Given the description of an element on the screen output the (x, y) to click on. 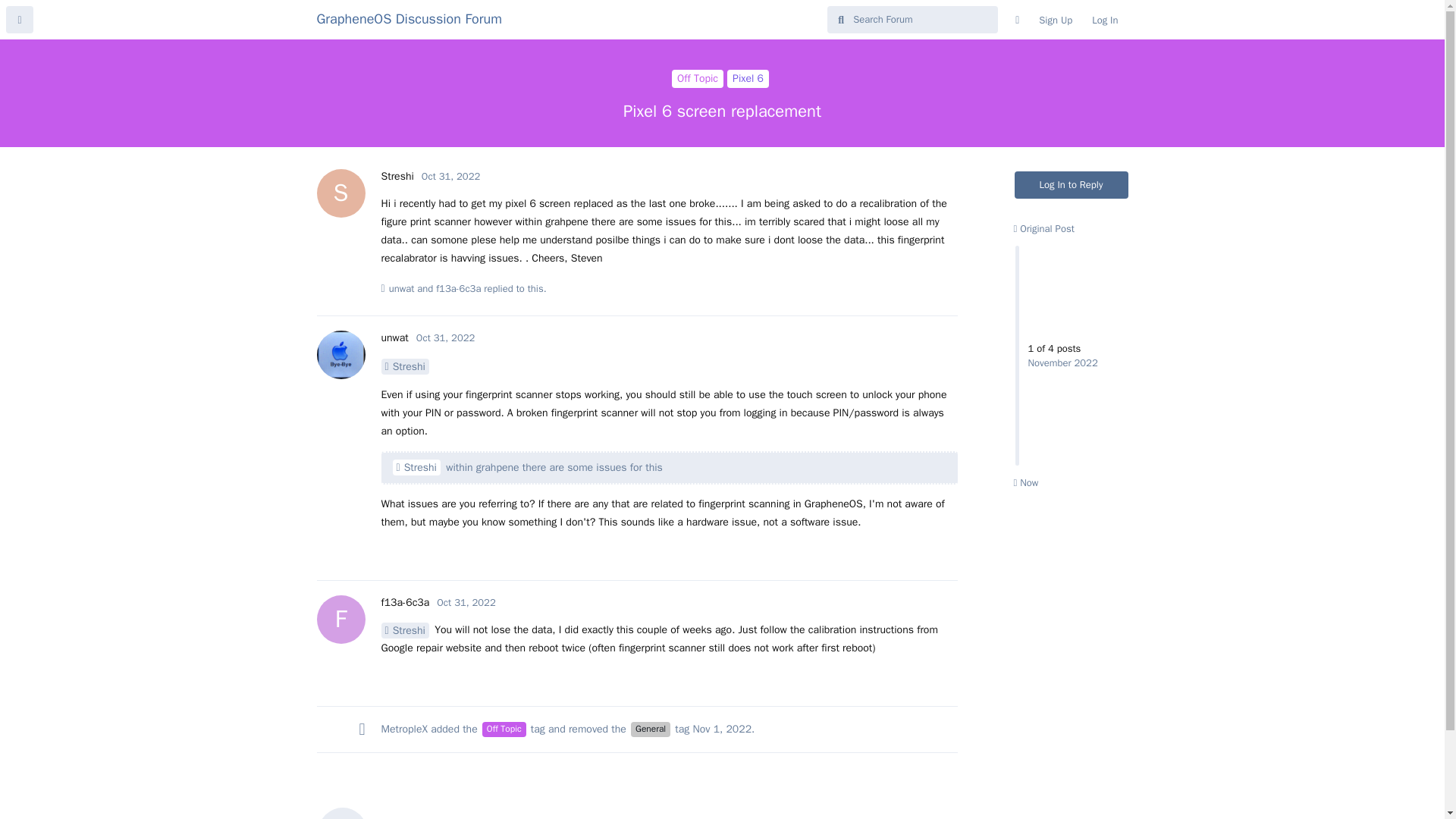
Log In to Reply (1071, 185)
Tuesday, November 1, 2022 2:56 PM (722, 728)
Oct 31, 2022 (465, 602)
MetropleX (404, 728)
Off Topic (503, 729)
Log In (1103, 19)
Write a Reply... (396, 175)
Oct 31, 2022 (636, 805)
Off Topic (451, 175)
f13a-6c3a (697, 78)
Pixel 6 (457, 288)
Streshi (747, 78)
Oct 31, 2022 (404, 365)
